Given the description of an element on the screen output the (x, y) to click on. 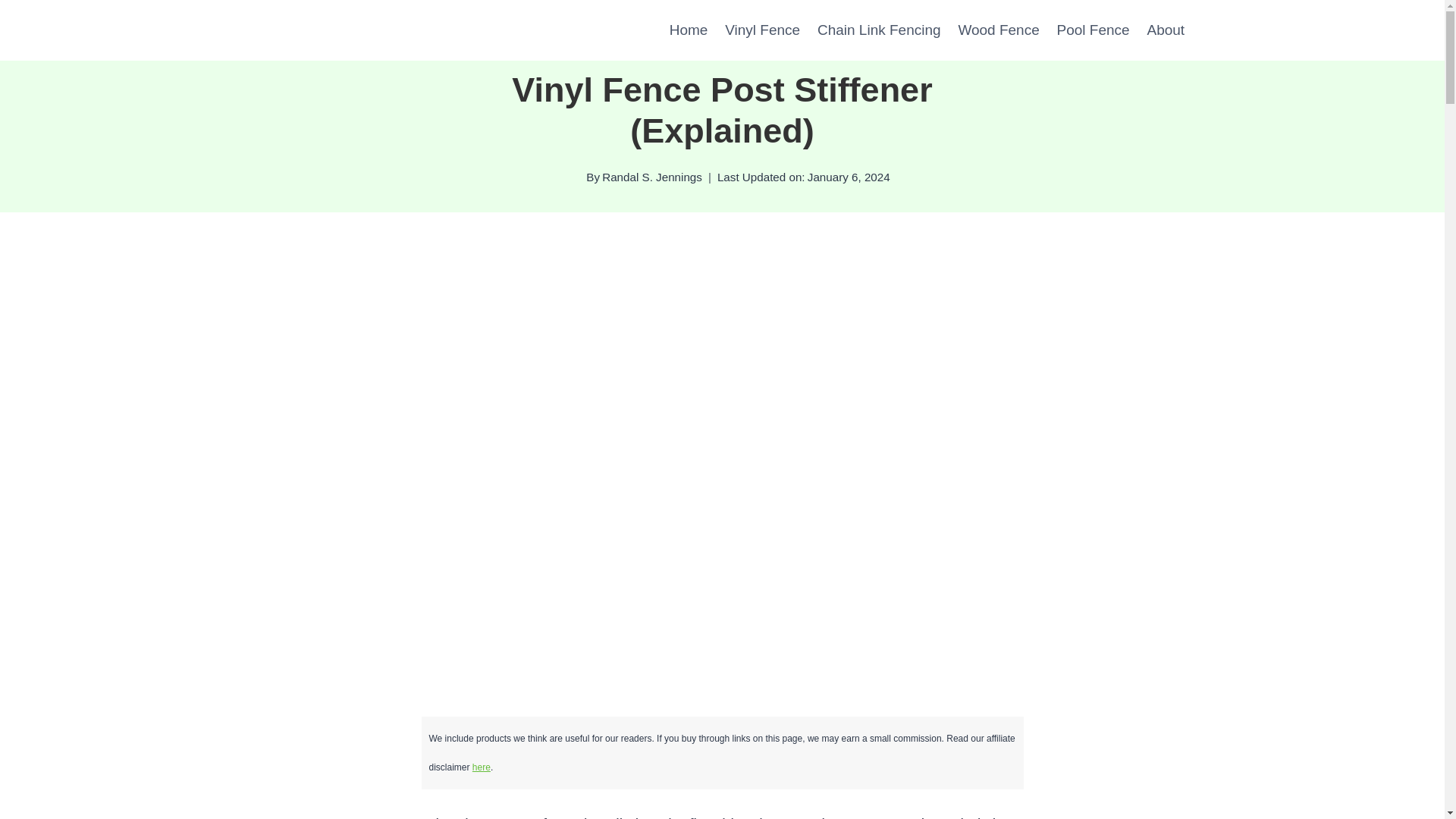
Randal S. Jennings (651, 176)
Pool Fence (1093, 30)
Vinyl Fence (762, 30)
Wood Fence (998, 30)
Home (688, 30)
Chain Link Fencing (879, 30)
here (480, 767)
About (1165, 30)
